Given the description of an element on the screen output the (x, y) to click on. 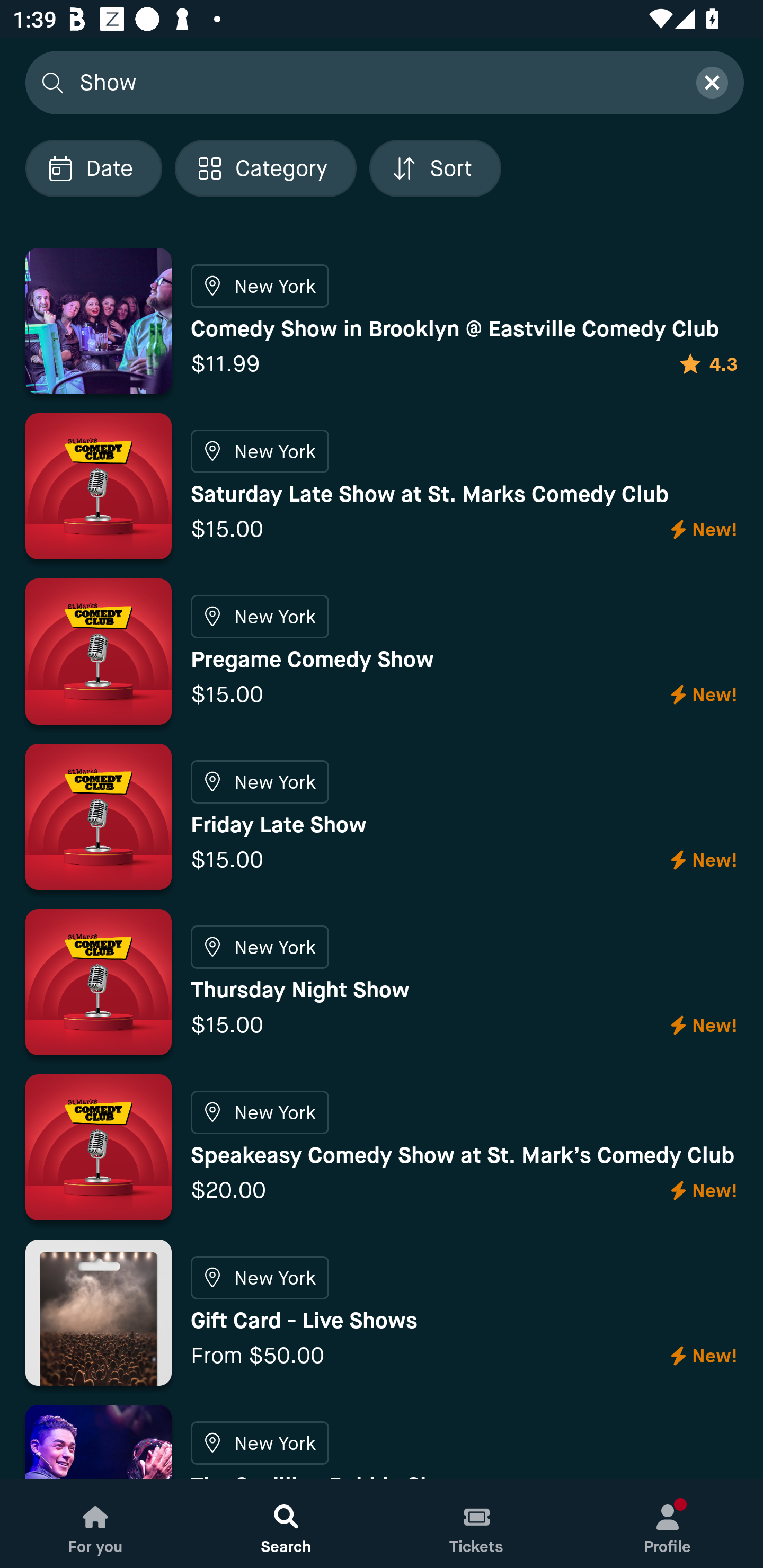
Show (376, 81)
Localized description Date (93, 168)
Localized description Category (265, 168)
Localized description Sort (435, 168)
For you (95, 1523)
Tickets (476, 1523)
Profile, New notification Profile (667, 1523)
